Given the description of an element on the screen output the (x, y) to click on. 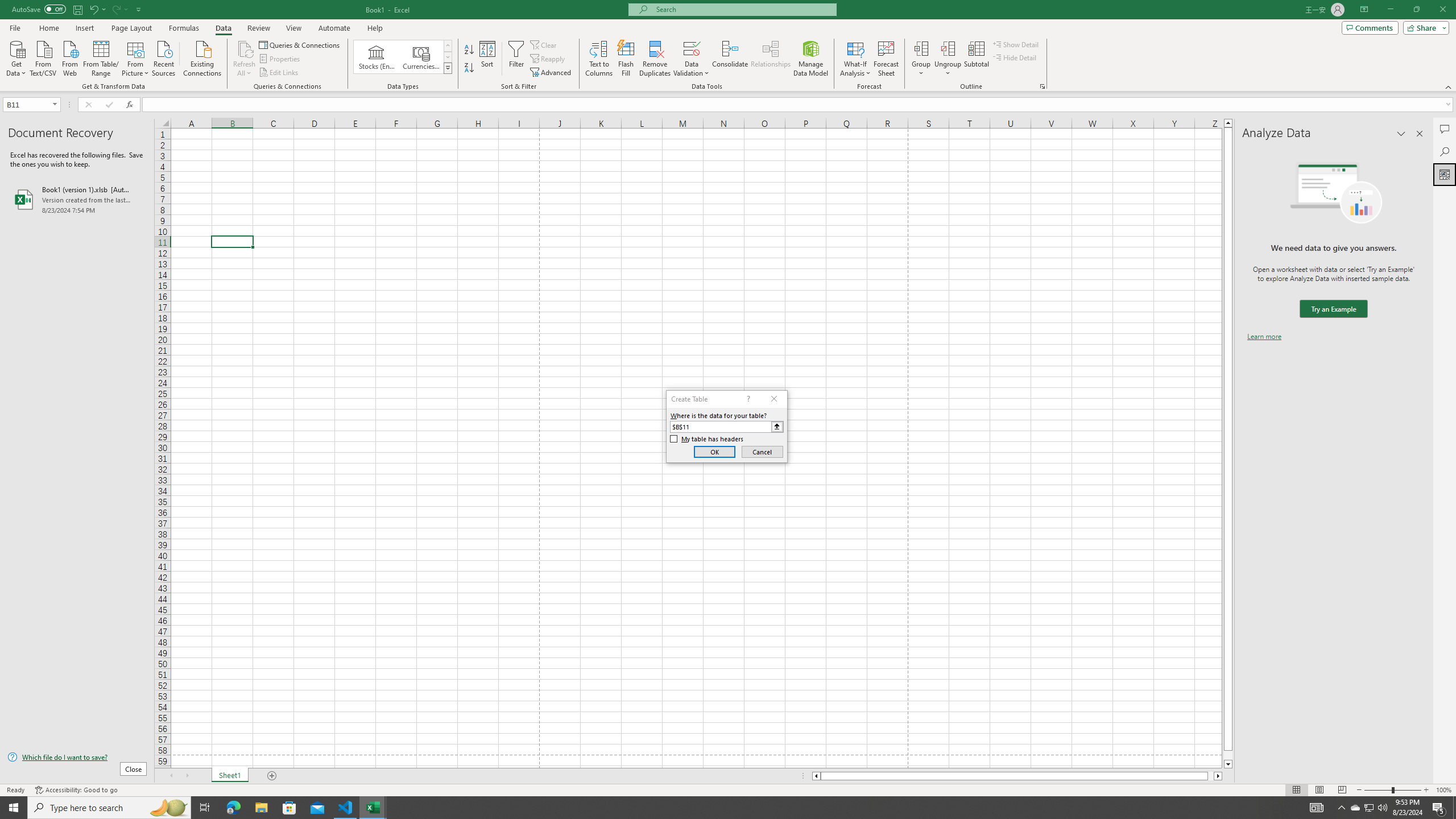
Currencies (English) (420, 56)
From Text/CSV (43, 57)
From Table/Range (100, 57)
File Tab (15, 27)
Collapse the Ribbon (1448, 86)
Ribbon Display Options (1364, 9)
Line down (1228, 764)
AutomationID: ConvertToLinkedEntity (403, 56)
Edit Links (279, 72)
Subtotal (976, 58)
Ungroup... (947, 58)
Refresh All (244, 48)
Page down (1228, 755)
